Given the description of an element on the screen output the (x, y) to click on. 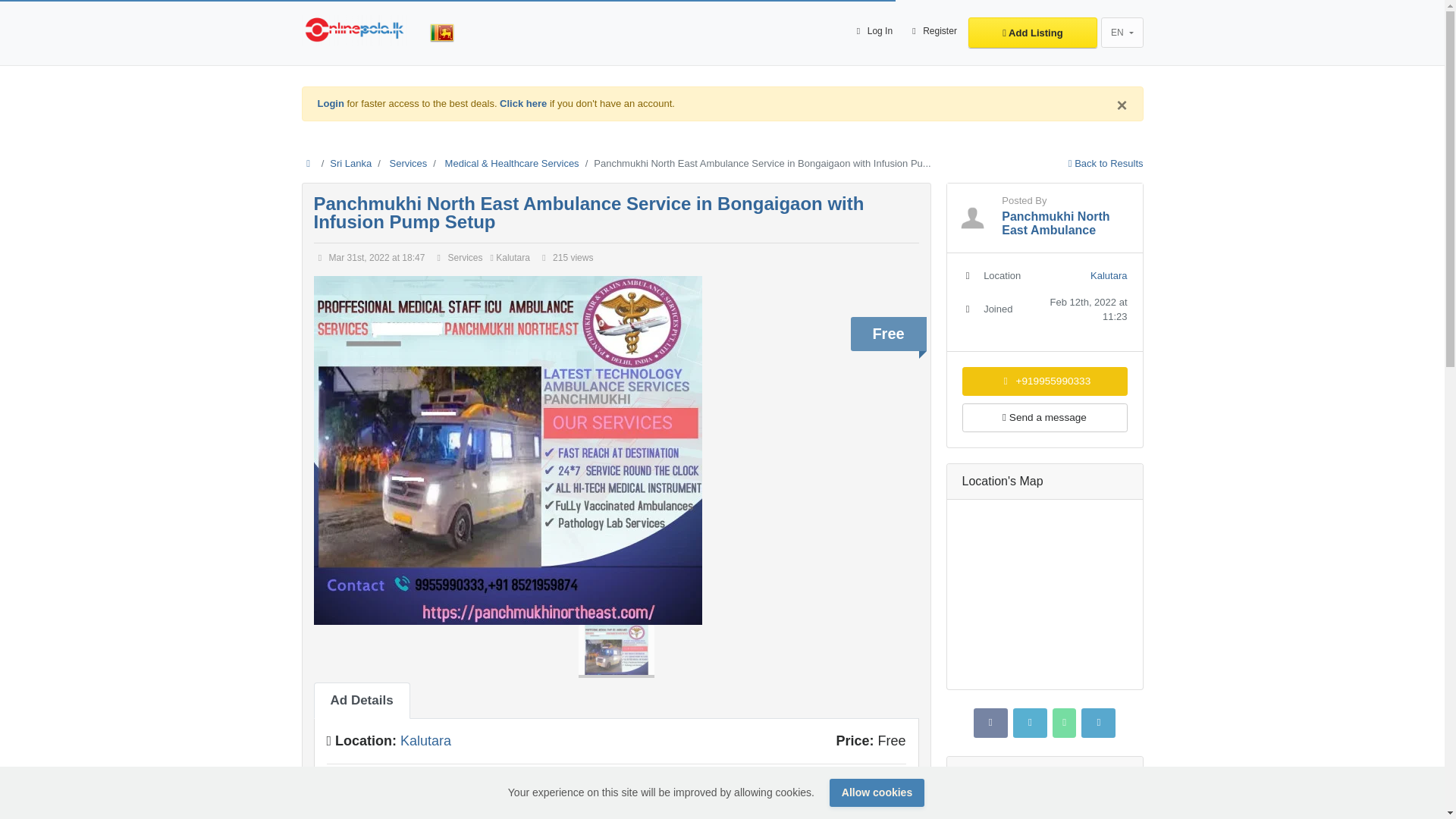
Ad Details (362, 700)
Login (330, 102)
Log In (871, 32)
Add Listing (1032, 32)
Kalutara (425, 739)
Sri Lanka (350, 163)
Back to Results (1105, 163)
Click here (523, 102)
Services (407, 163)
Register (931, 32)
EN (1121, 32)
